Given the description of an element on the screen output the (x, y) to click on. 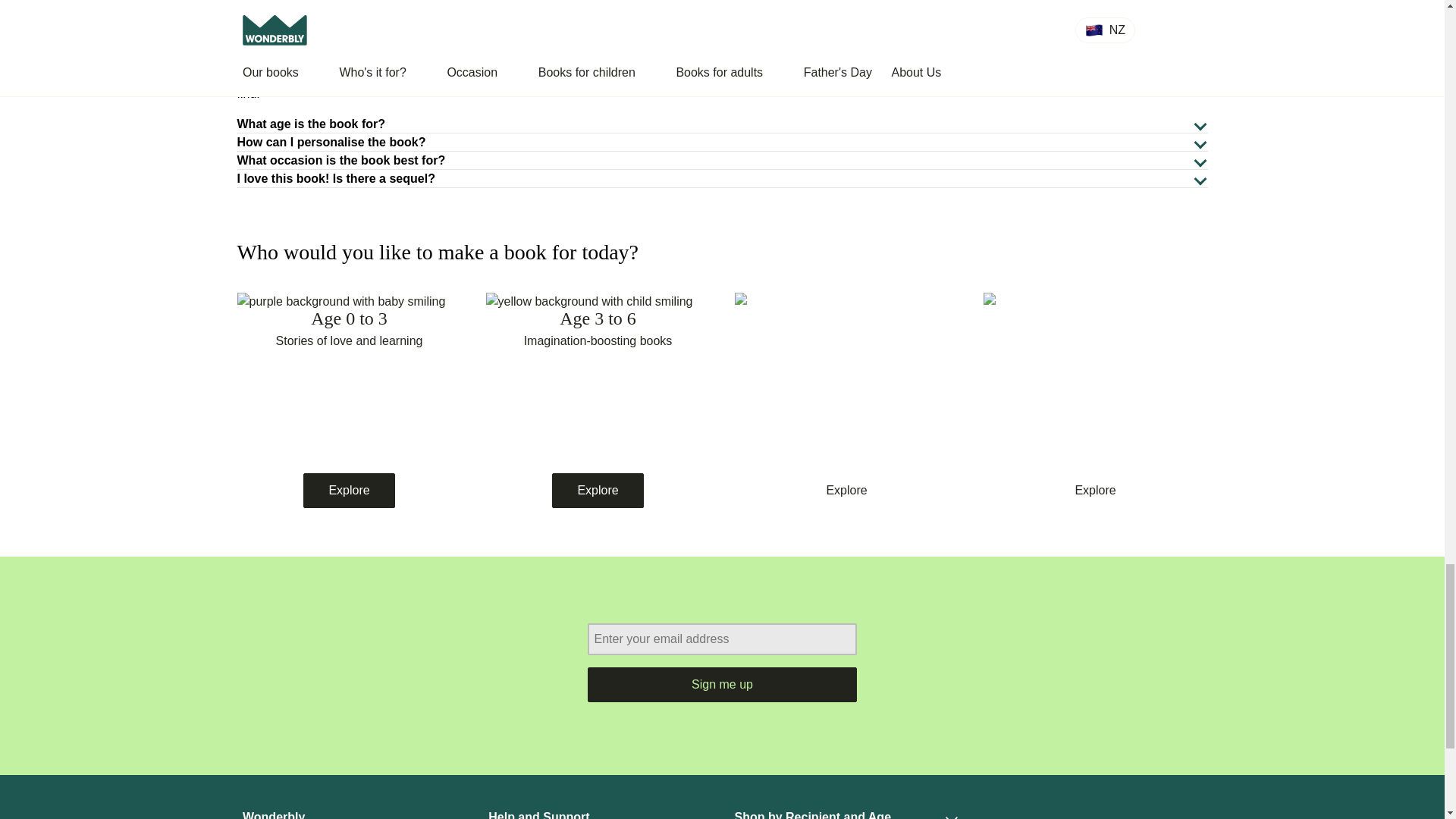
Customer reviews powered by Trustpilot (1090, 813)
